Given the description of an element on the screen output the (x, y) to click on. 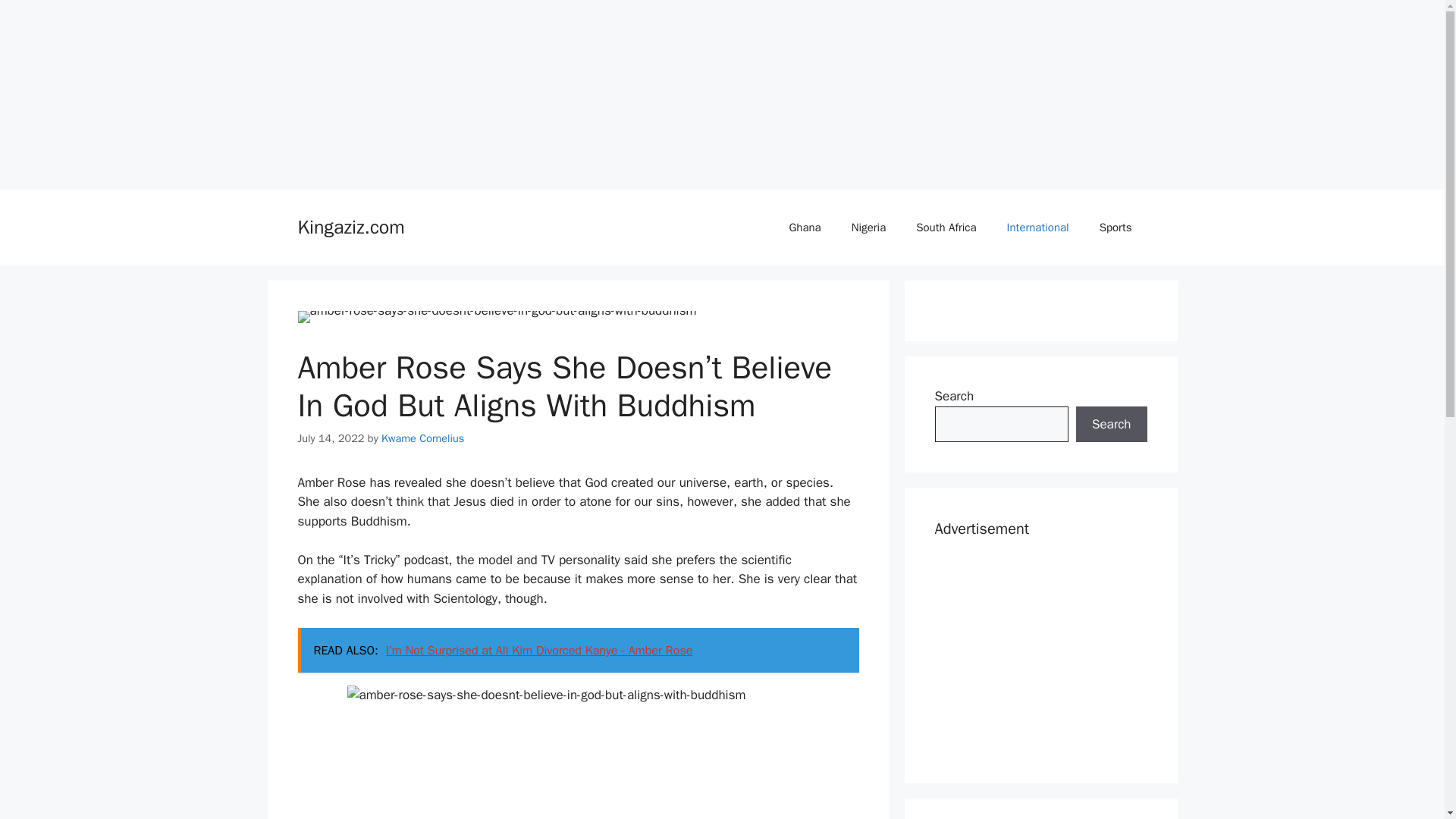
Kingaziz.com (350, 227)
Kwame Cornelius (422, 438)
International (1037, 227)
View all posts by Kwame Cornelius (422, 438)
South Africa (946, 227)
Ghana (804, 227)
Nigeria (868, 227)
Search (1111, 424)
Sports (1115, 227)
